Given the description of an element on the screen output the (x, y) to click on. 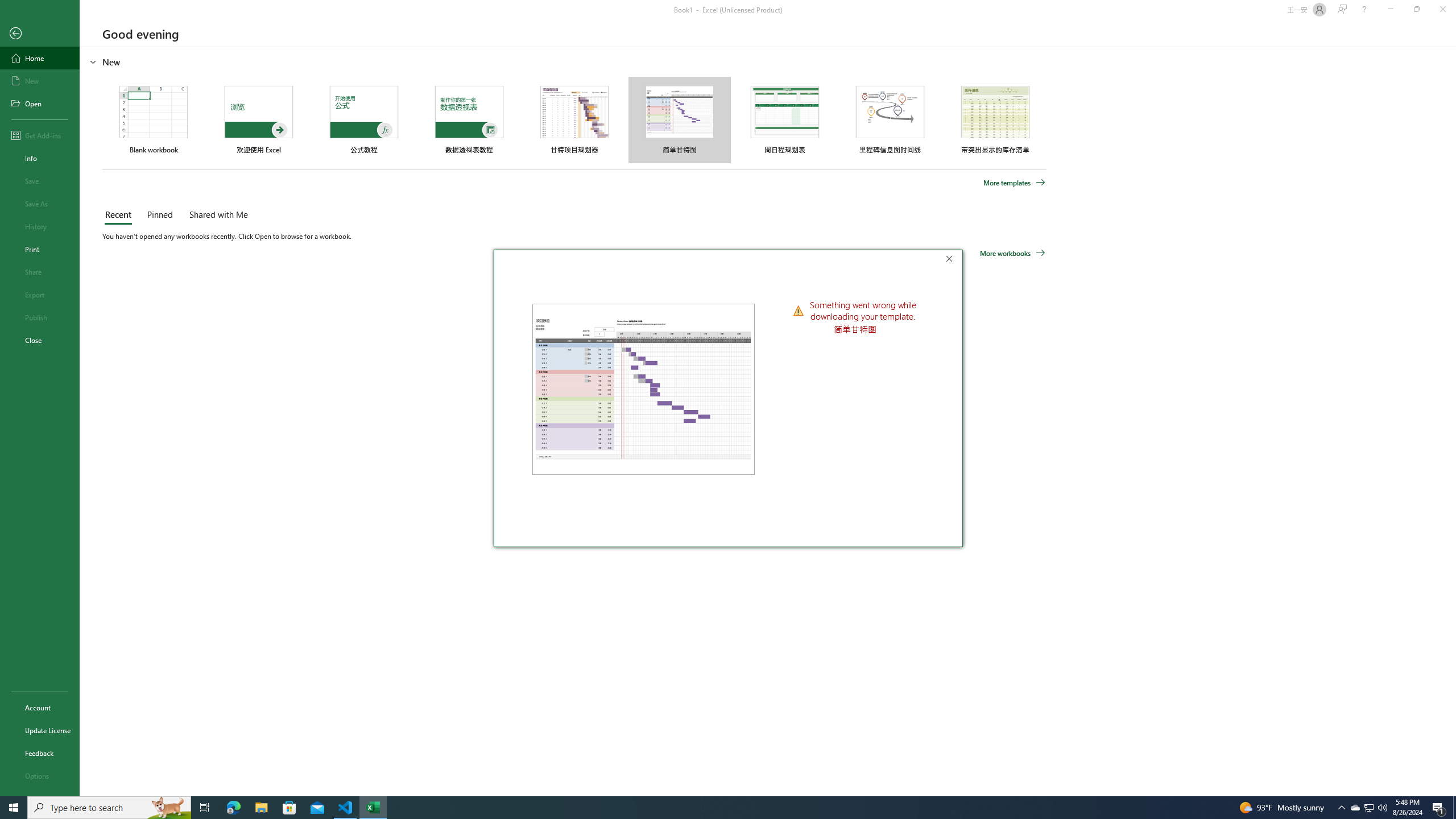
File Explorer (261, 807)
Excel - 1 running window (373, 807)
Hide or show region (92, 61)
Show desktop (1454, 807)
Restore Down (1416, 9)
Print (40, 248)
Preview (643, 389)
Start (13, 807)
Back (40, 33)
Info (40, 157)
Save (40, 180)
Publish (40, 317)
